Given the description of an element on the screen output the (x, y) to click on. 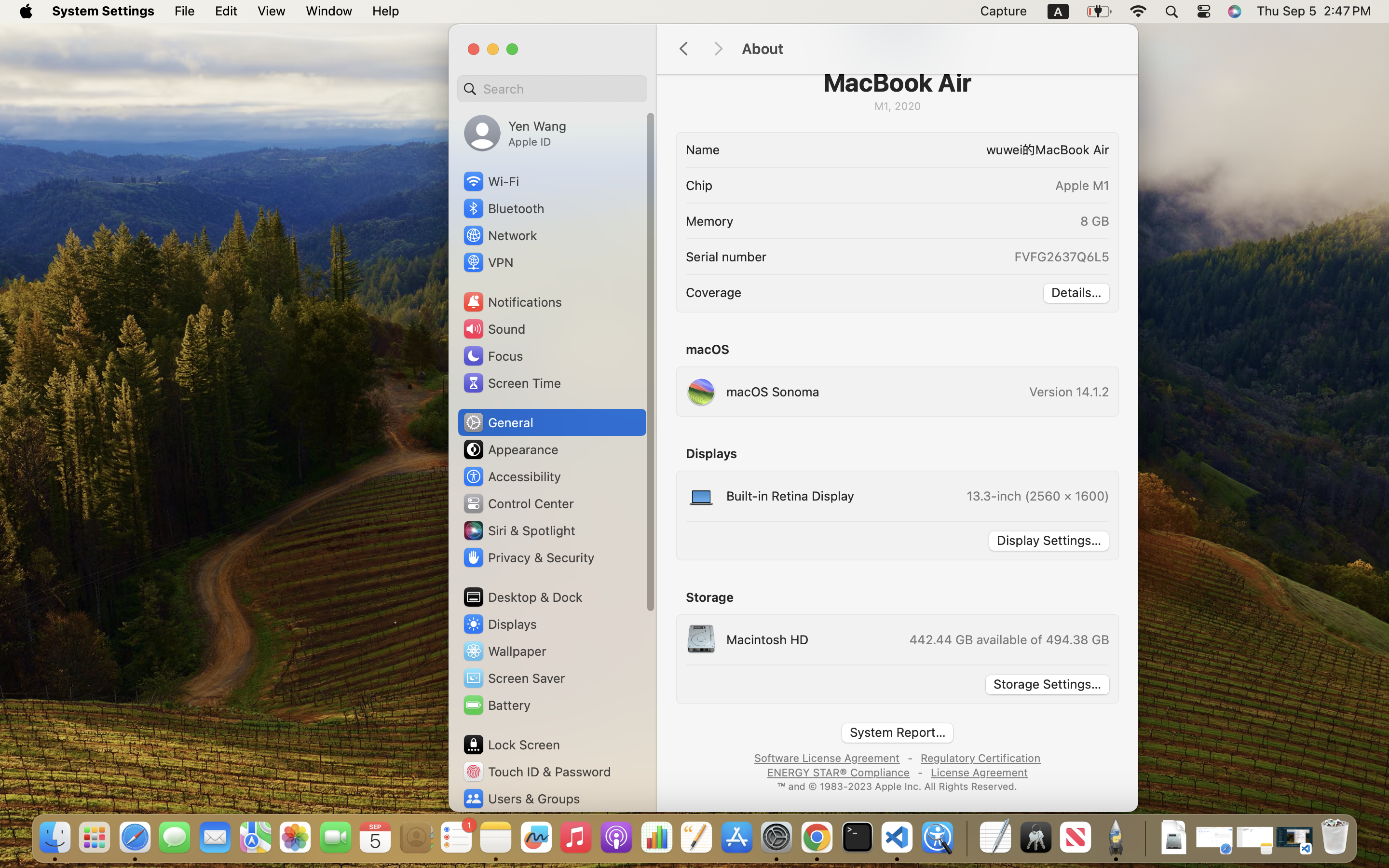
macOS Sonoma Element type: AXStaticText (752, 391)
Name Element type: AXStaticText (702, 149)
Version 14.1.2 Element type: AXStaticText (1069, 391)
™ and © 1983-2023 Apple Inc. All Rights Reserved. Element type: AXStaticText (897, 785)
VPN Element type: AXStaticText (487, 261)
